Given the description of an element on the screen output the (x, y) to click on. 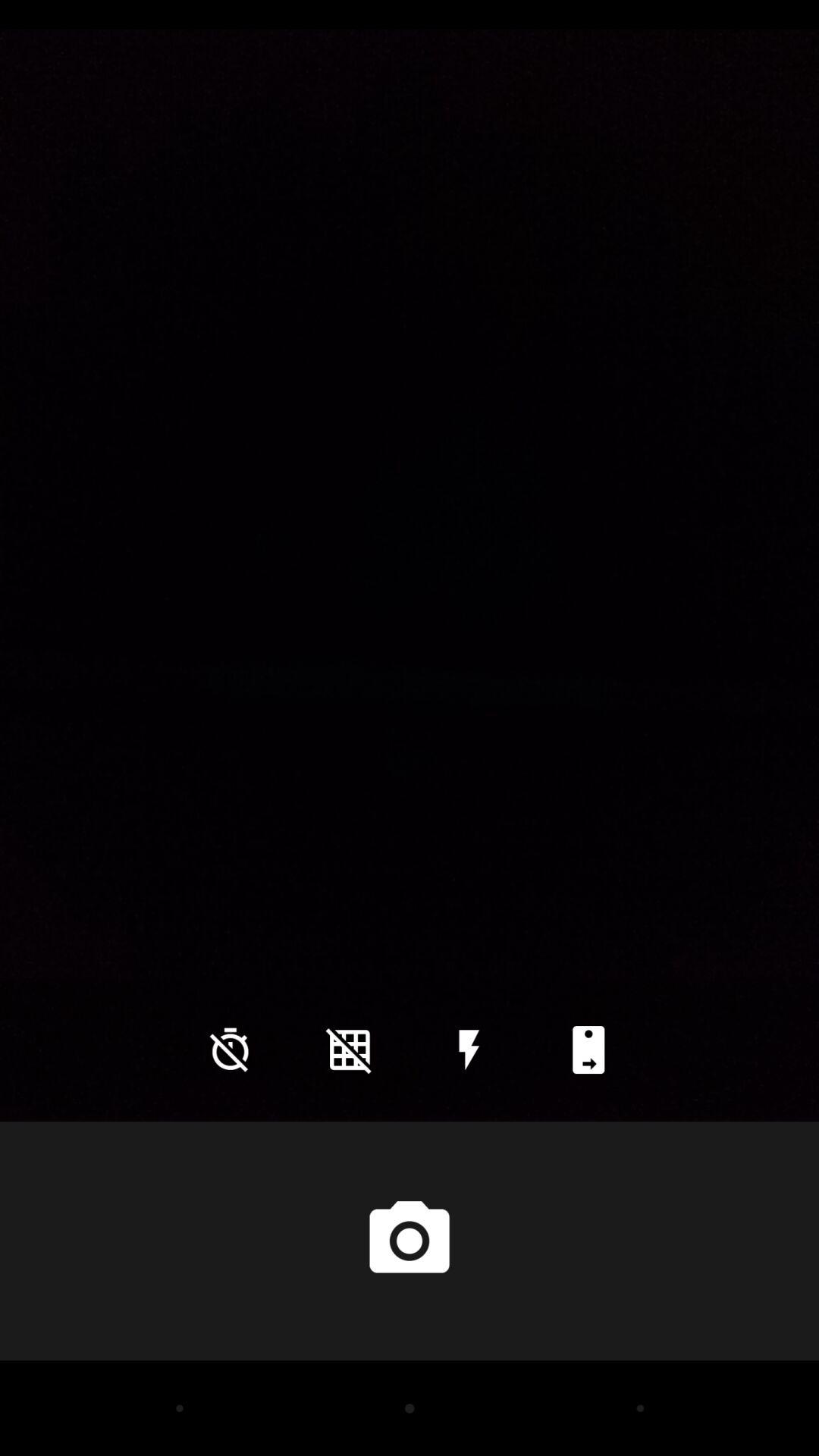
choose the item at the bottom left corner (230, 1049)
